Given the description of an element on the screen output the (x, y) to click on. 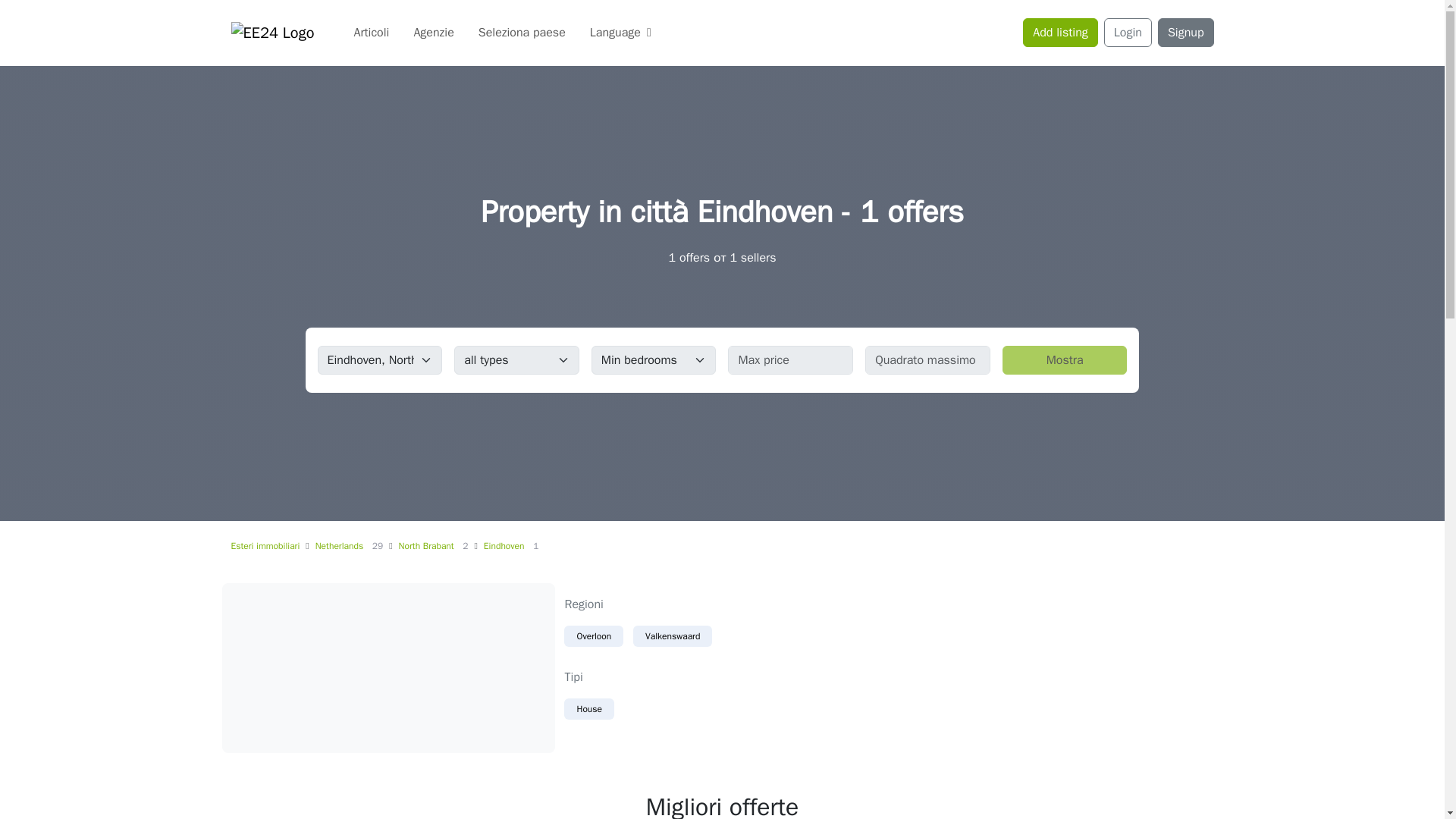
Login (1127, 32)
Language (620, 32)
Agenzie (433, 32)
Esteri immobiliari (264, 545)
Overloon (593, 636)
Property type (516, 359)
Articoli (370, 32)
Minimo camere da letto (653, 359)
Seleziona paese (521, 32)
House (589, 708)
